Given the description of an element on the screen output the (x, y) to click on. 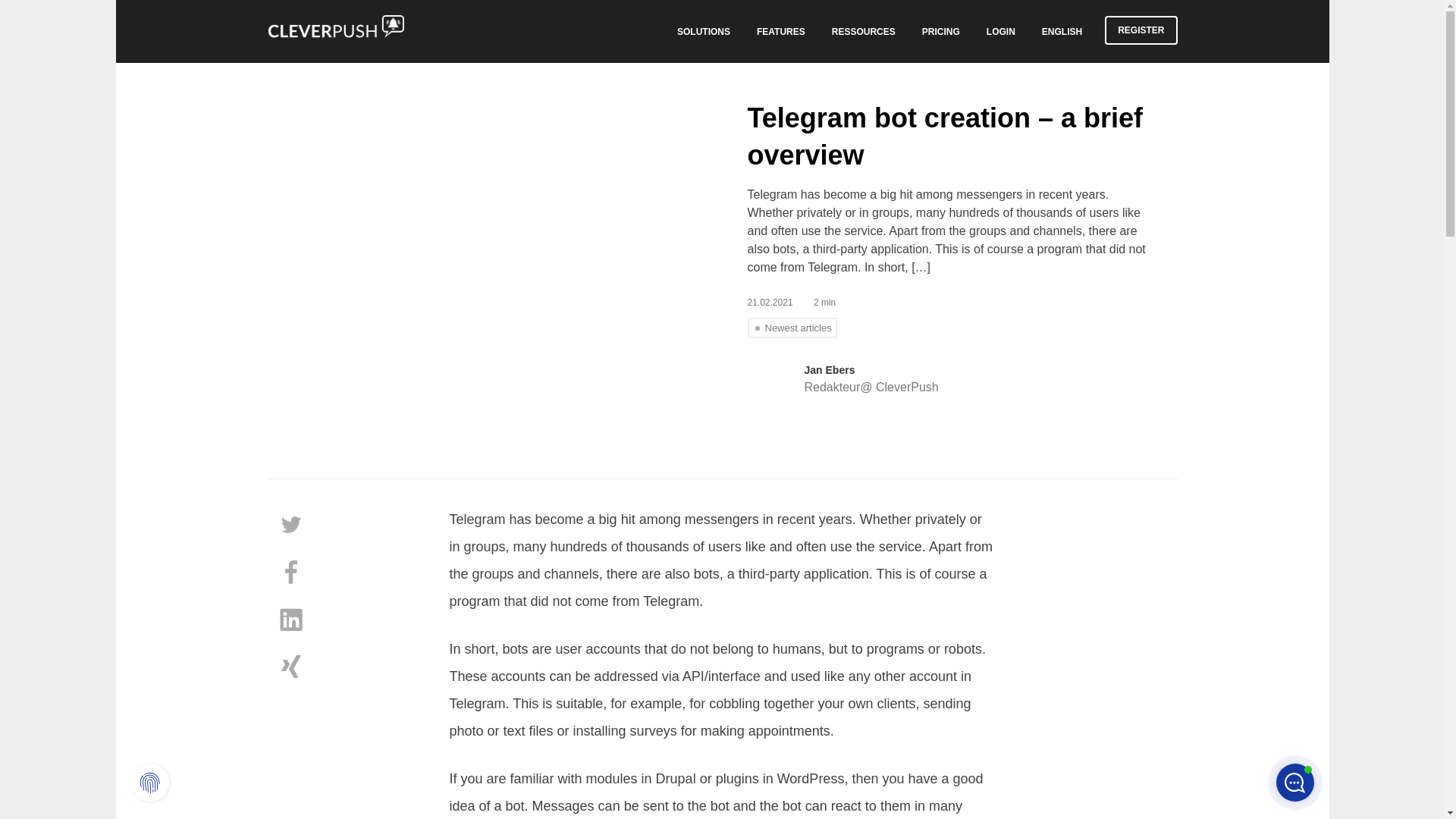
SOLUTIONS (703, 30)
ENGLISH (1061, 30)
REGISTER (1140, 30)
FEATURES (780, 30)
PRICING (941, 30)
RESSOURCES (864, 30)
21.02.2021 (779, 302)
LOGIN (1000, 30)
Newest articles (792, 328)
